Given the description of an element on the screen output the (x, y) to click on. 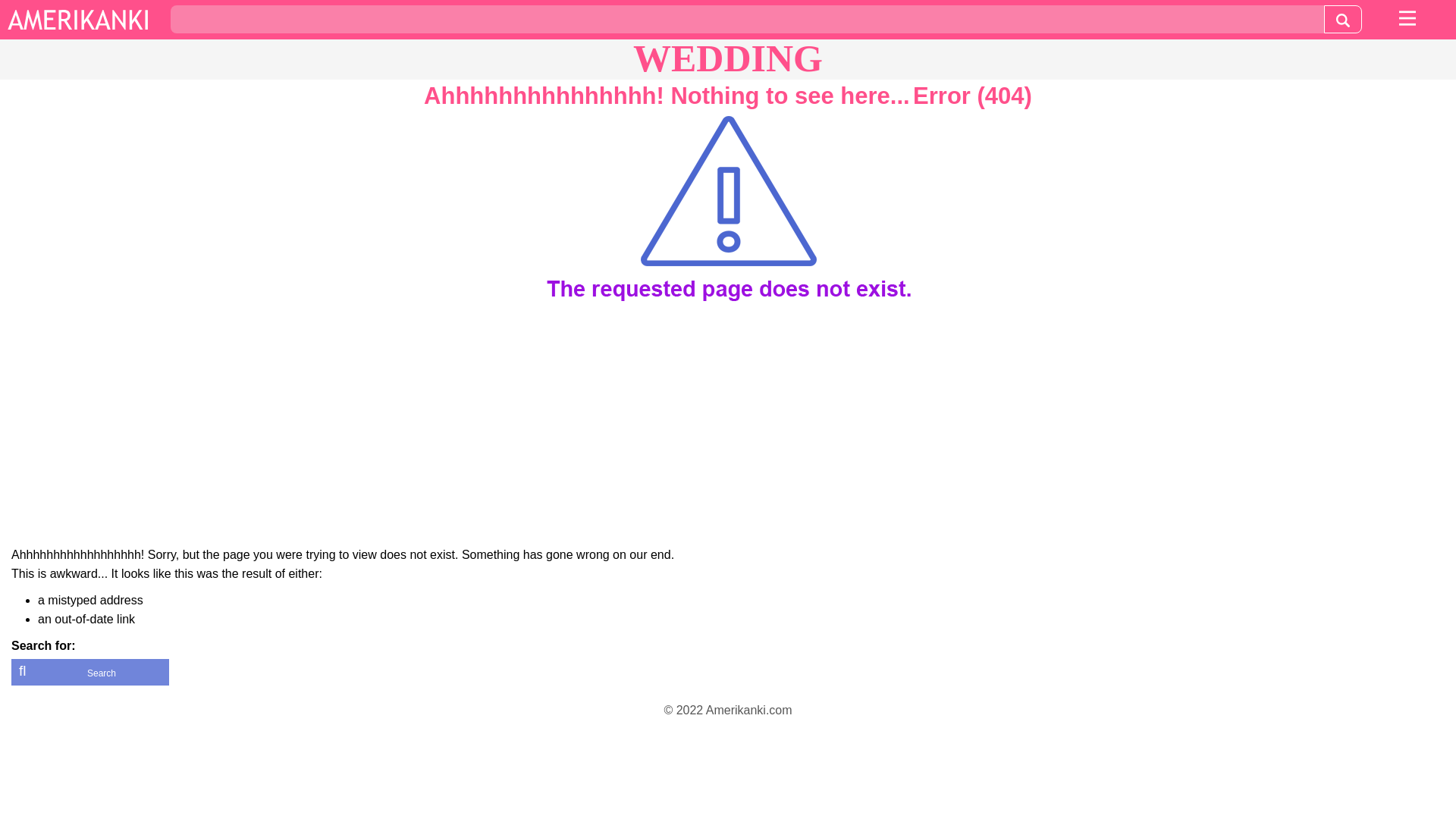
WEDDING (727, 58)
